Given the description of an element on the screen output the (x, y) to click on. 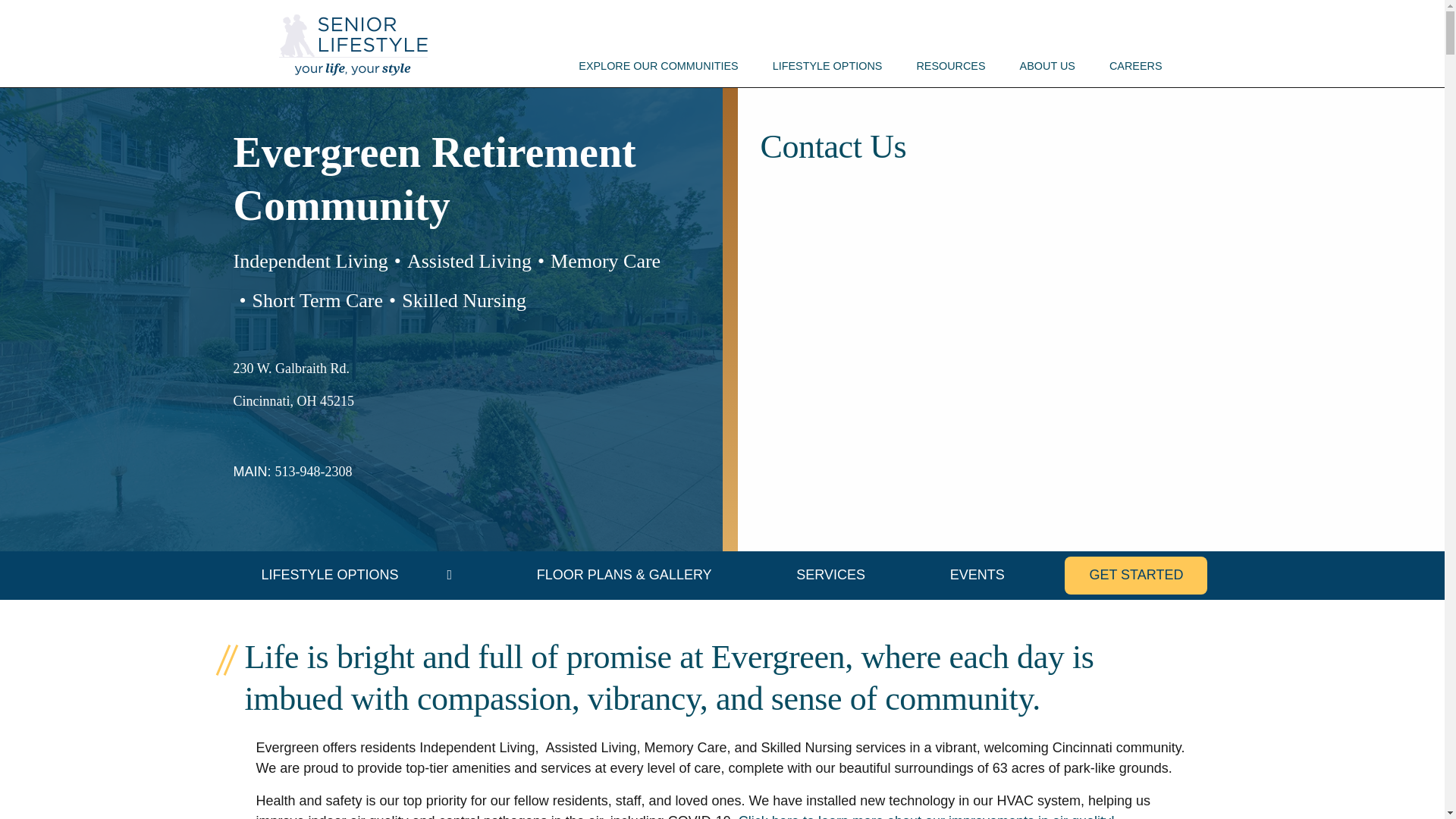
EXPLORE OUR COMMUNITIES (657, 66)
CAREERS (1135, 66)
Independent Living (310, 260)
ABOUT US (1047, 66)
Assisted Living (469, 260)
LIFESTYLE OPTIONS (827, 66)
RESOURCES (950, 66)
